Given the description of an element on the screen output the (x, y) to click on. 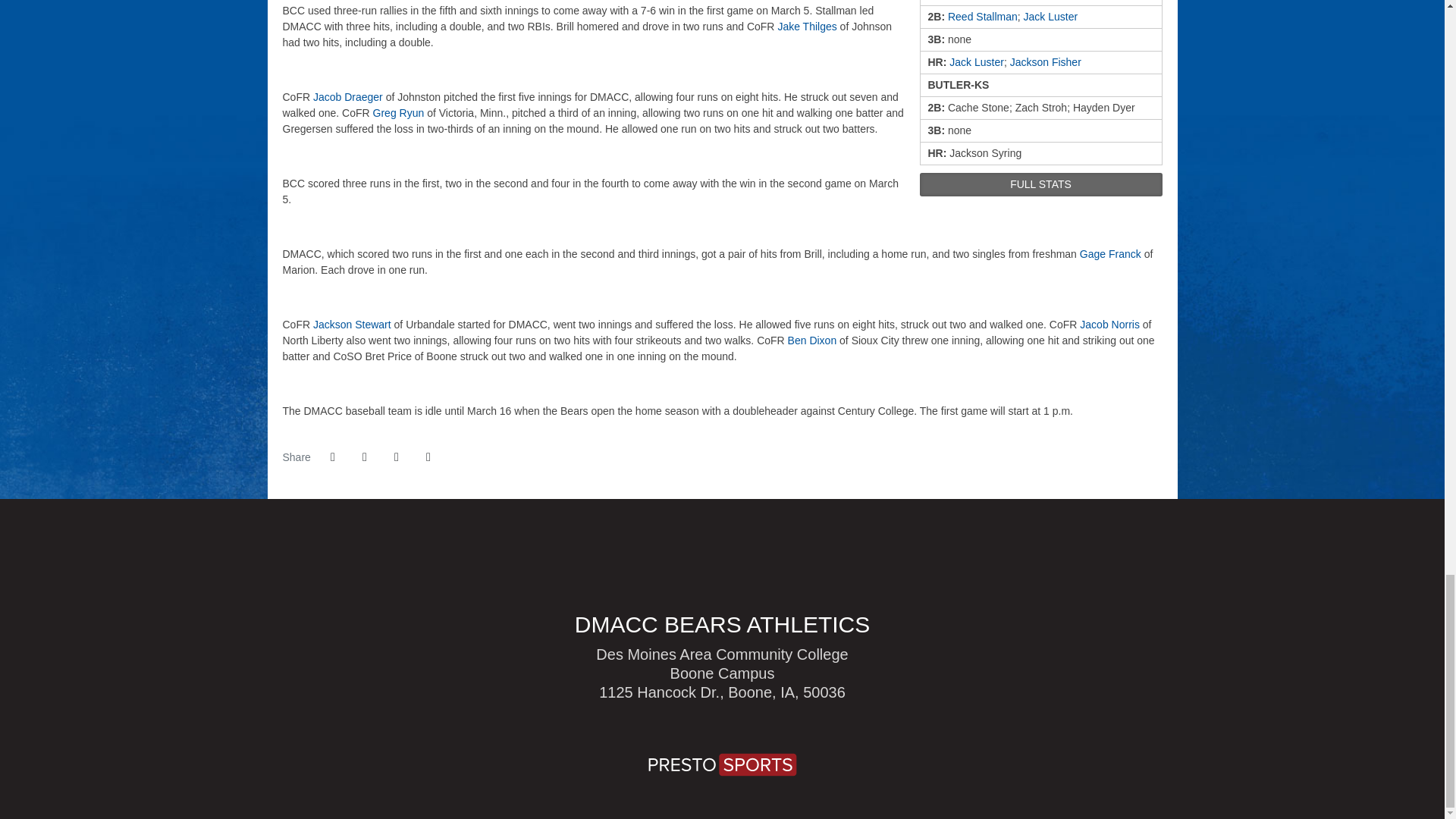
Print (428, 457)
Jack Luster (1050, 16)
Jackson Fisher (1045, 61)
Reed Stallman (982, 16)
Jack Luster (976, 61)
